Given the description of an element on the screen output the (x, y) to click on. 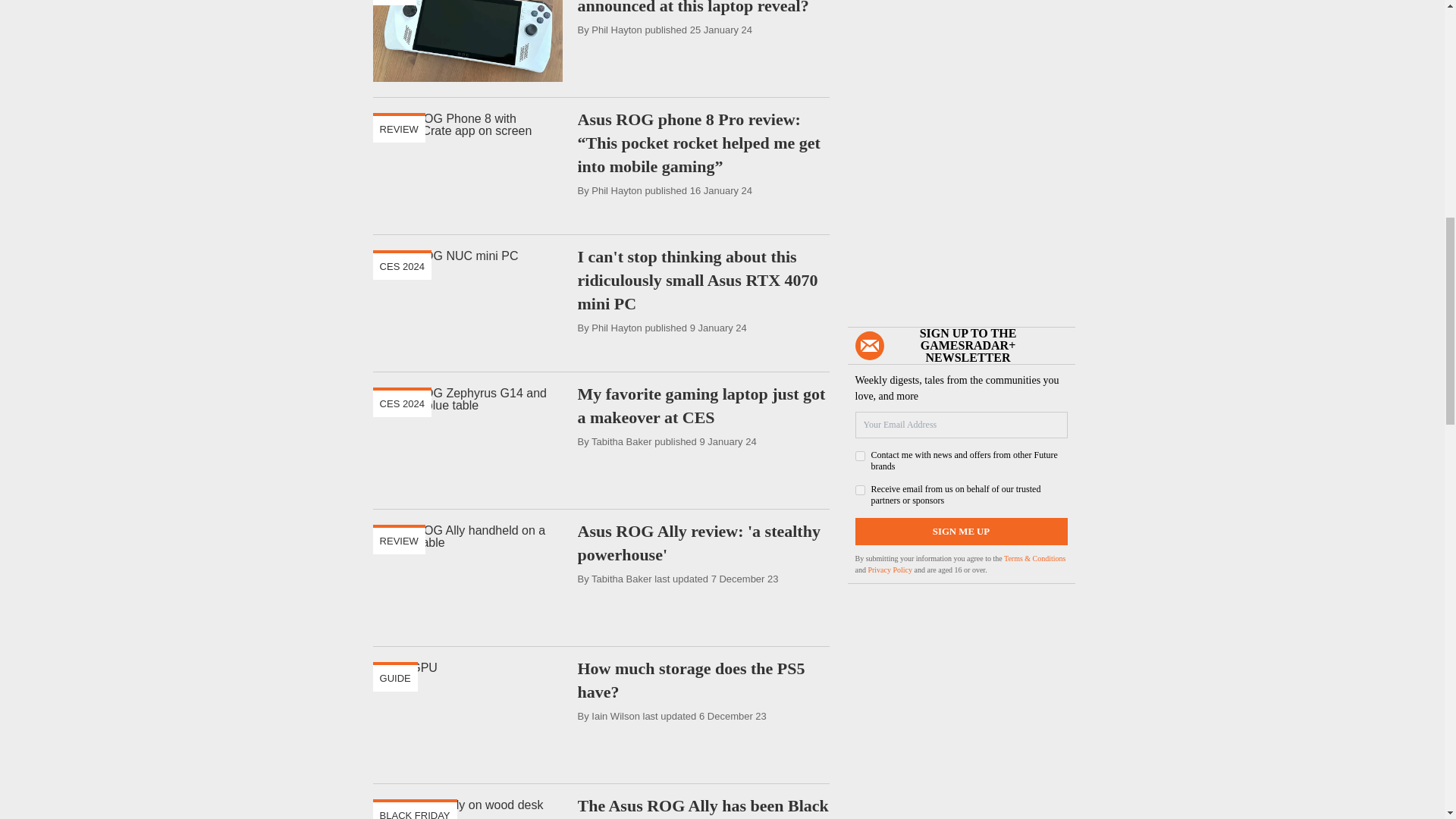
Sign me up (961, 531)
on (860, 490)
on (860, 456)
